Given the description of an element on the screen output the (x, y) to click on. 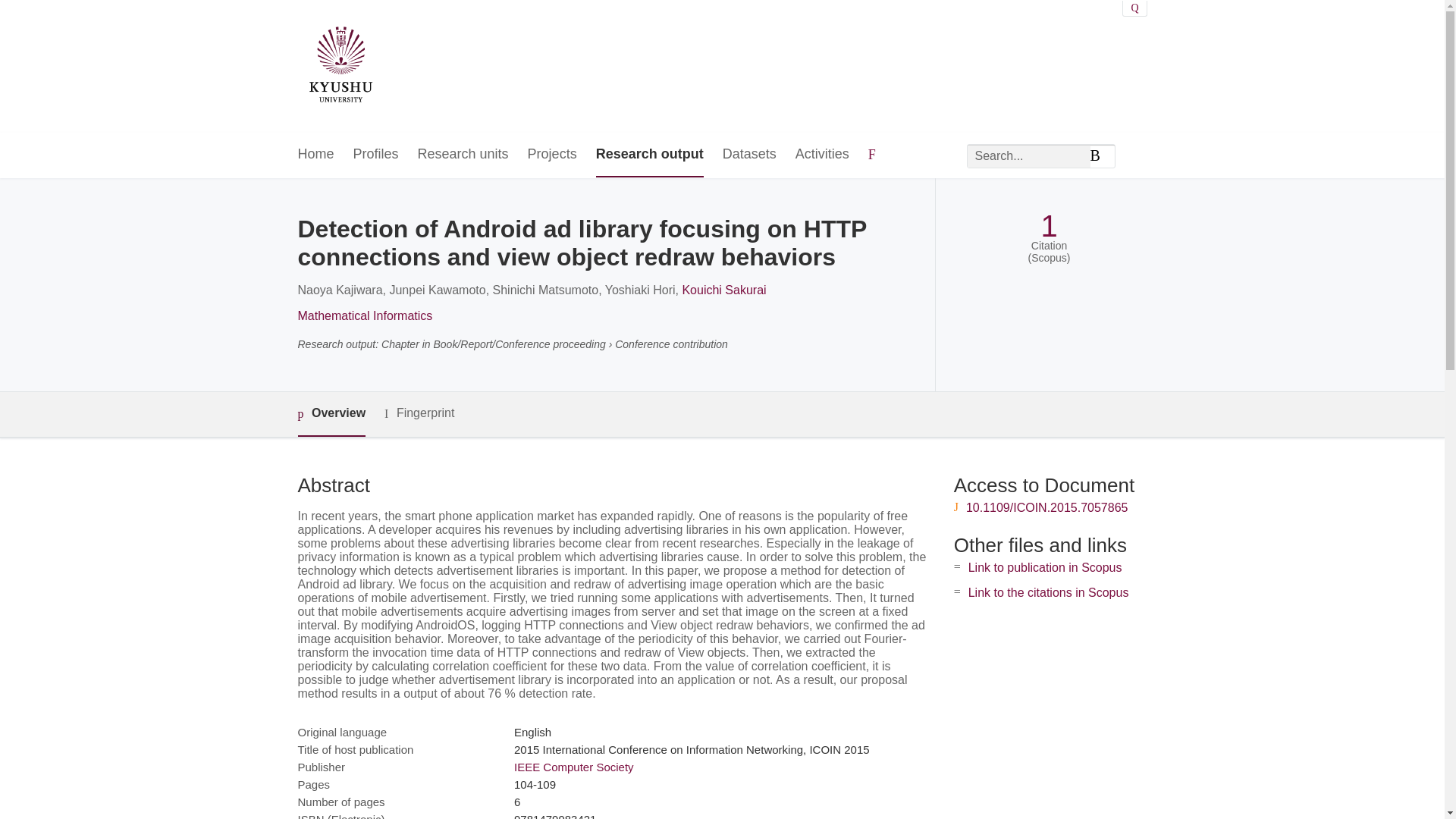
Overview (331, 414)
Projects (551, 154)
Link to the citations in Scopus (1048, 592)
Kouichi Sakurai (723, 289)
Mathematical Informatics (364, 315)
Link to publication in Scopus (1045, 567)
Research output (649, 154)
IEEE Computer Society (573, 766)
Fingerprint (419, 413)
Profiles (375, 154)
Research units (462, 154)
Activities (821, 154)
Datasets (749, 154)
